Given the description of an element on the screen output the (x, y) to click on. 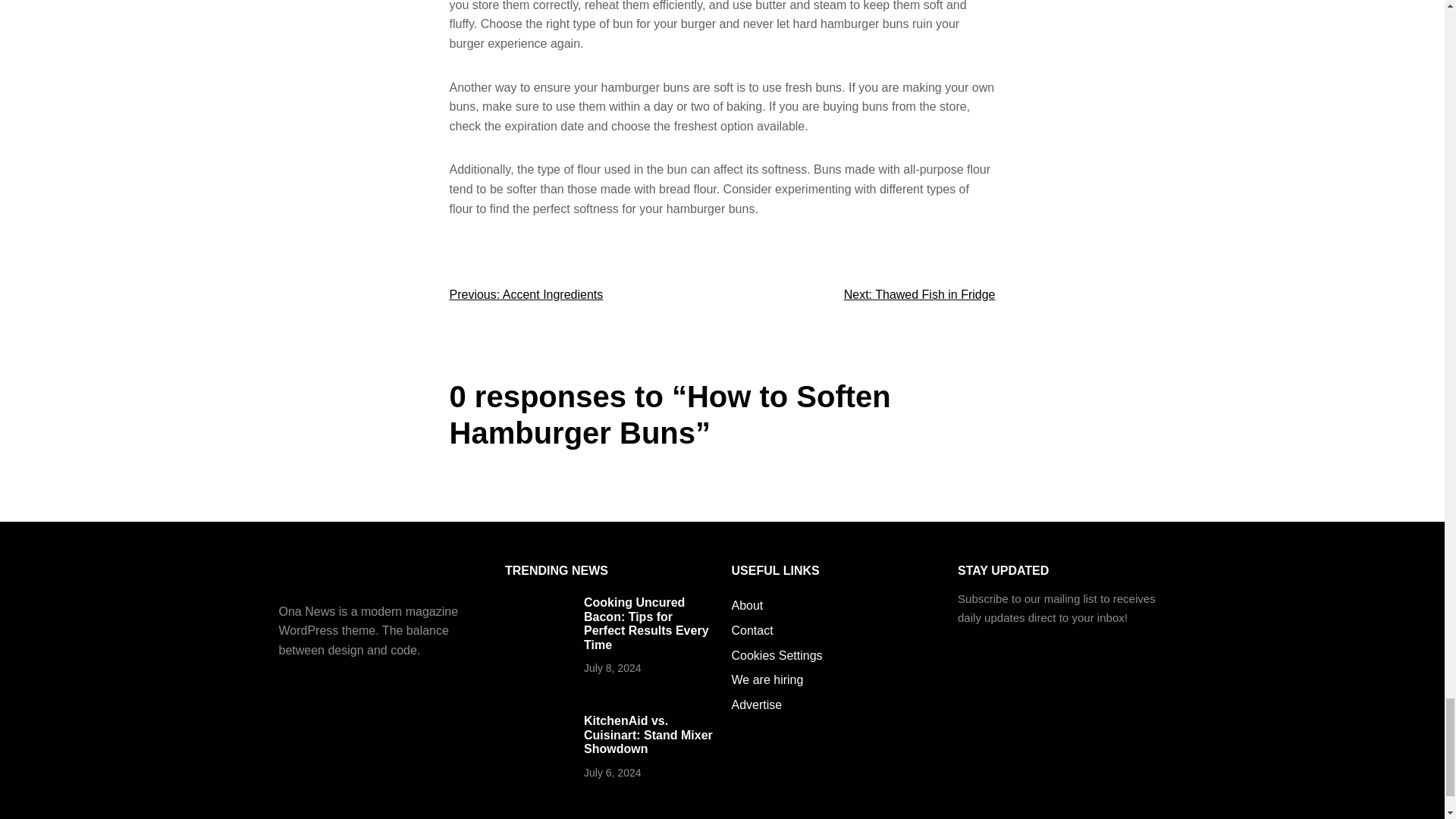
Next: Thawed Fish in Fridge (919, 294)
Previous: Accent Ingredients (525, 294)
Cooking Uncured Bacon: Tips for Perfect Results Every Time (646, 623)
We are hiring (766, 680)
Cookies Settings (776, 655)
About (746, 605)
Advertise (755, 704)
Contact (751, 630)
KitchenAid vs. Cuisinart: Stand Mixer Showdown (648, 734)
